Given the description of an element on the screen output the (x, y) to click on. 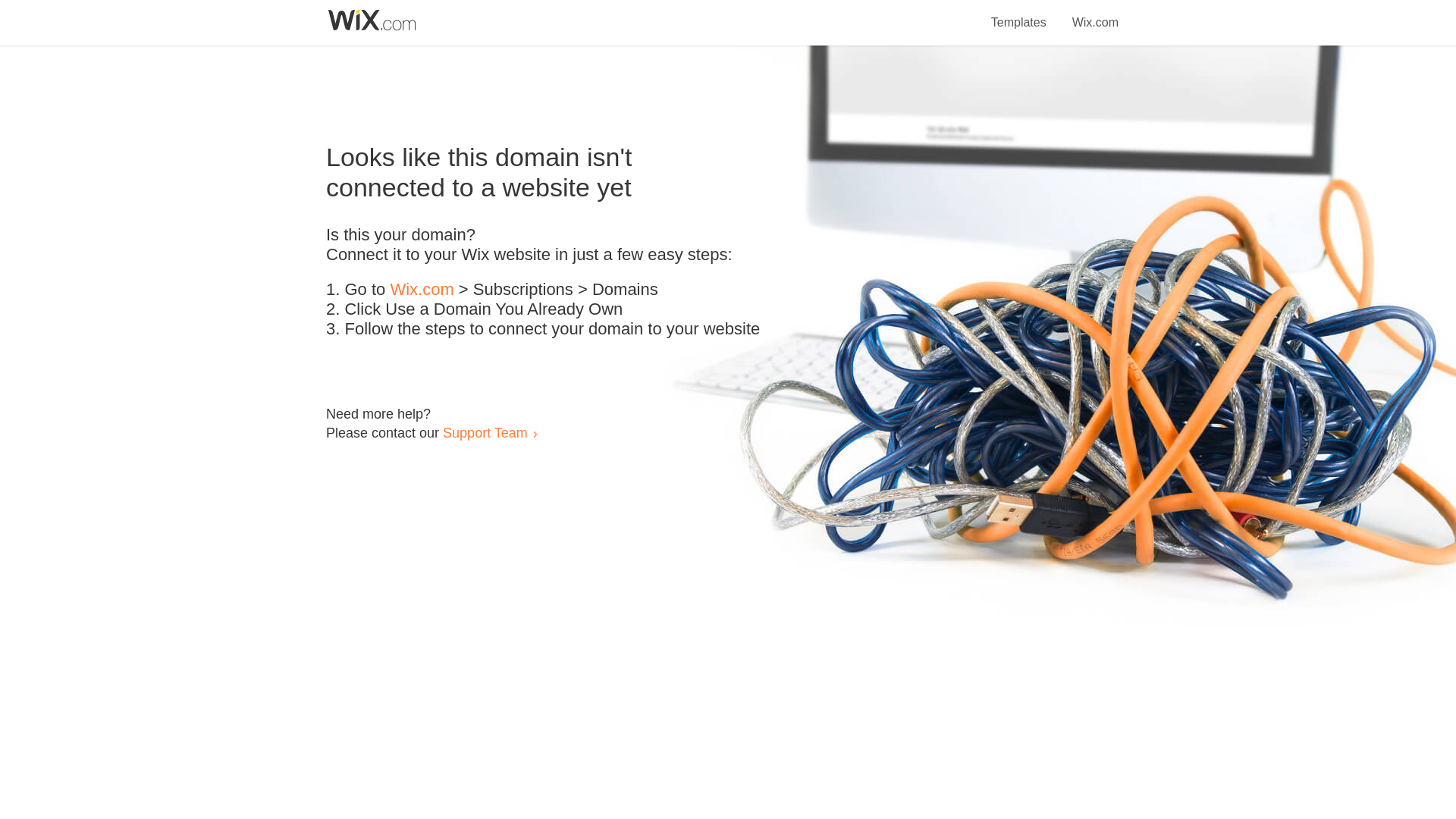
Wix.com (421, 289)
Wix.com (1095, 14)
Support Team (484, 432)
Templates (1018, 14)
